Given the description of an element on the screen output the (x, y) to click on. 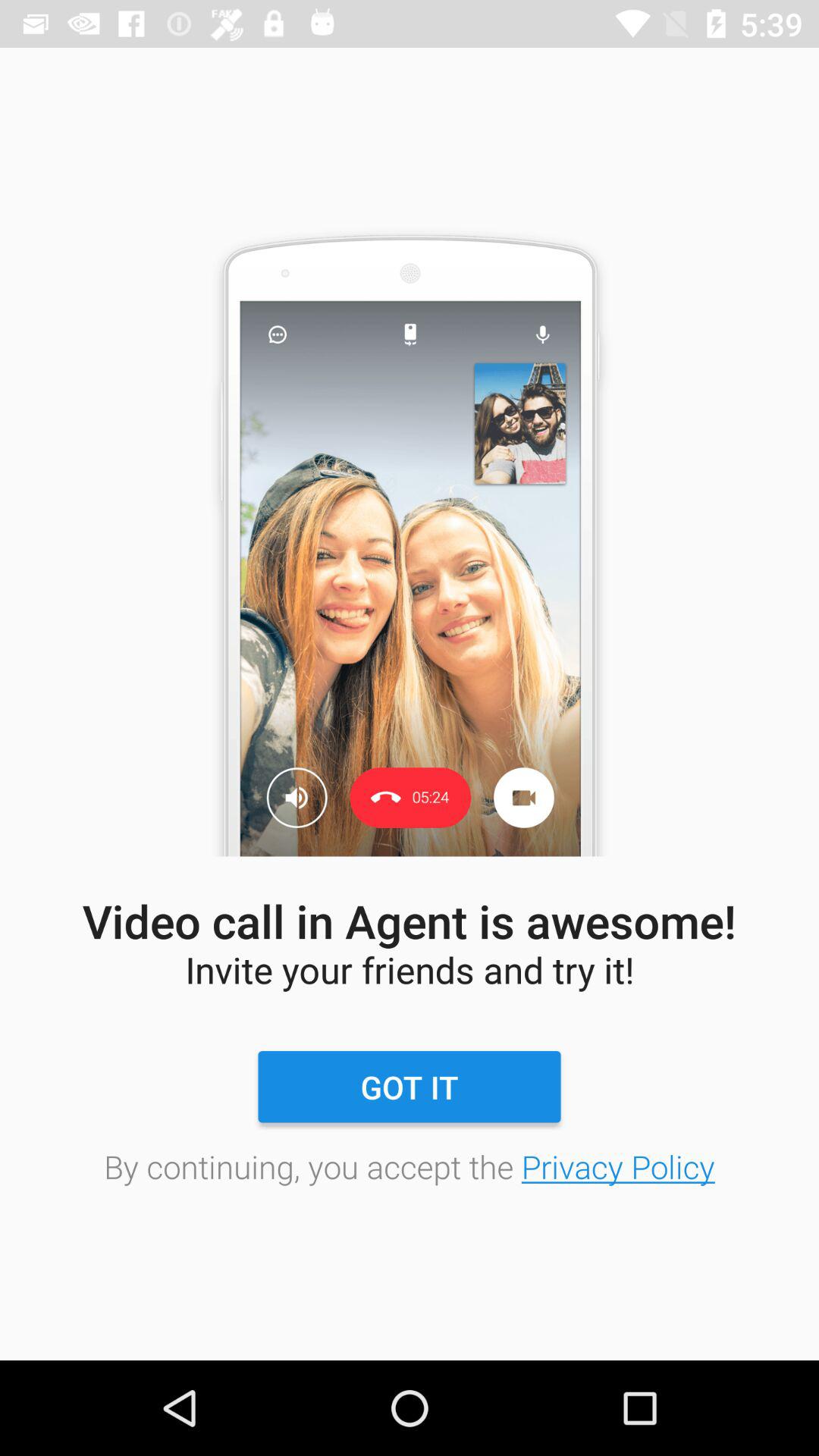
flip until by continuing you (409, 1166)
